Given the description of an element on the screen output the (x, y) to click on. 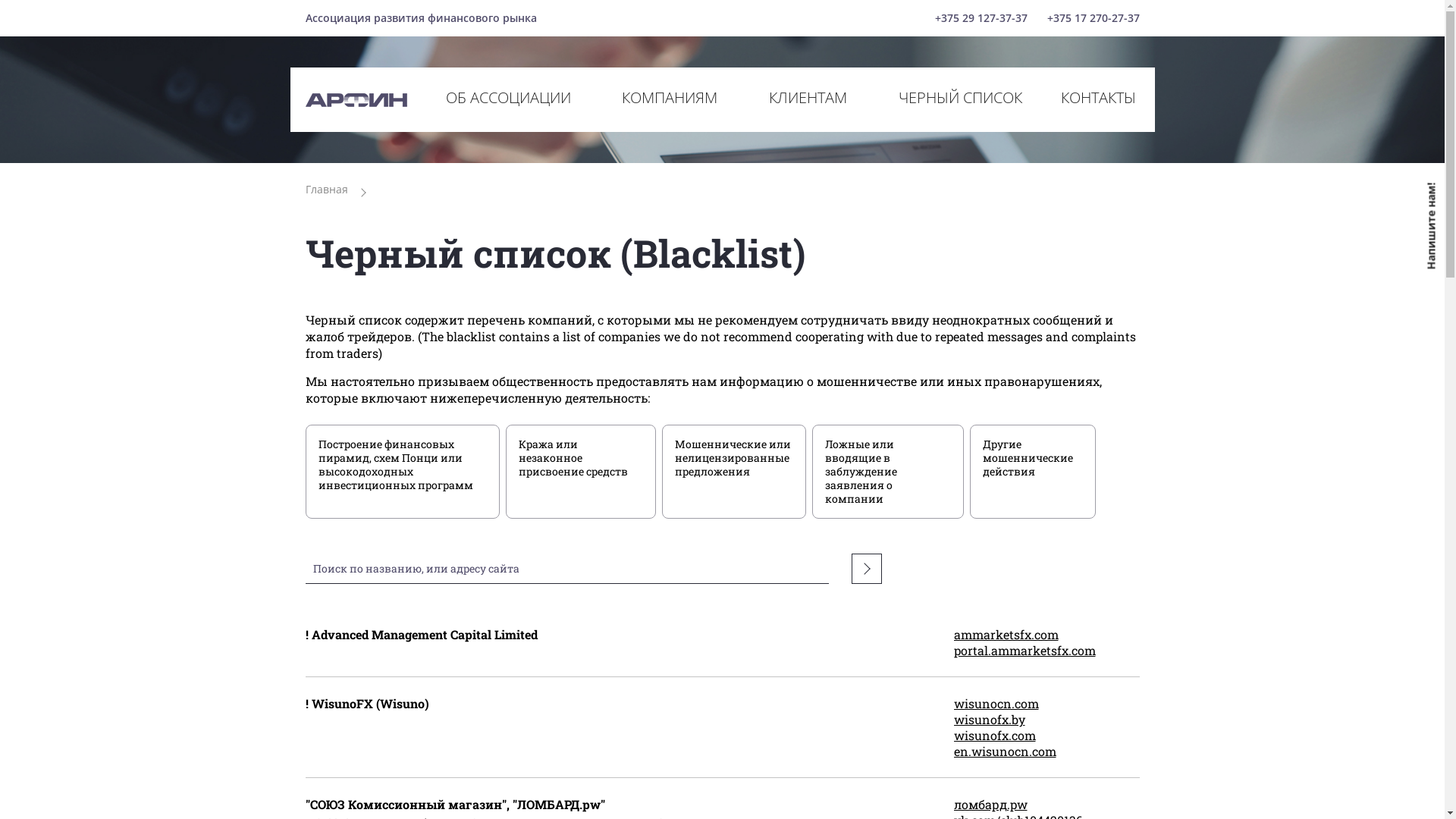
wisunofx.com Element type: text (1046, 735)
portal.ammarketsfx.com Element type: text (1046, 650)
wisunofx.by Element type: text (1046, 719)
wisunocn.com Element type: text (1046, 703)
en.wisunocn.com Element type: text (1046, 751)
ammarketsfx.com Element type: text (1046, 634)
